Given the description of an element on the screen output the (x, y) to click on. 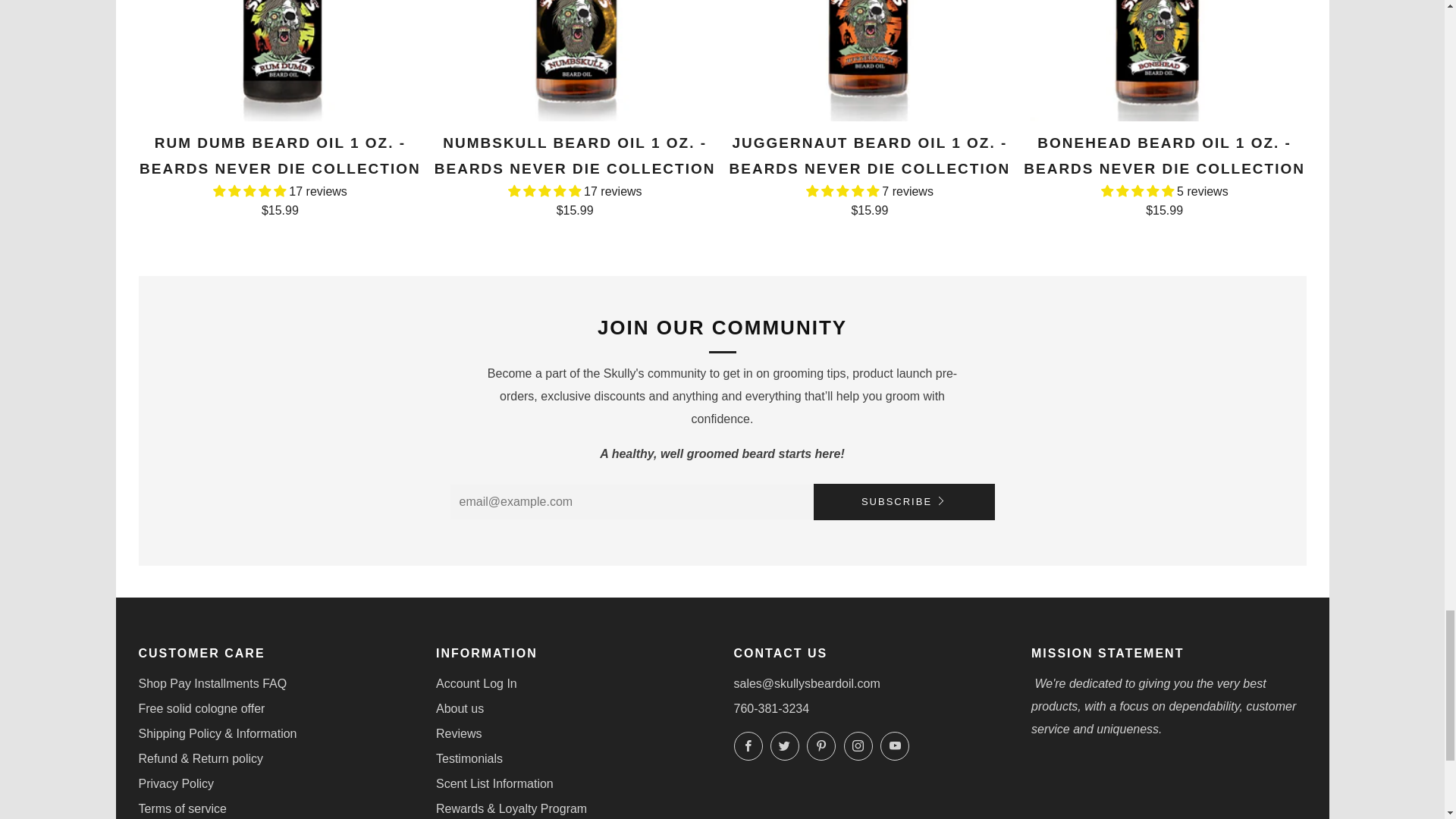
NumbSkull Beard oil 1 oz. - Beards Never Die Collection (574, 60)
Rum Dumb Beard oil 1 oz. - Beards Never Die Collection (280, 173)
Rum Dumb Beard oil 1 oz. - Beards Never Die Collection (280, 60)
Bonehead Beard oil 1 oz. - Beards Never Die Collection (1164, 173)
Bonehead Beard oil 1 oz. - Beards Never Die Collection (1164, 60)
Juggernaut Beard oil 1 oz. - Beards Never Die Collection (869, 173)
NumbSkull Beard oil 1 oz. - Beards Never Die Collection (574, 173)
Juggernaut Beard oil 1 oz. - Beards Never Die Collection (869, 60)
